Given the description of an element on the screen output the (x, y) to click on. 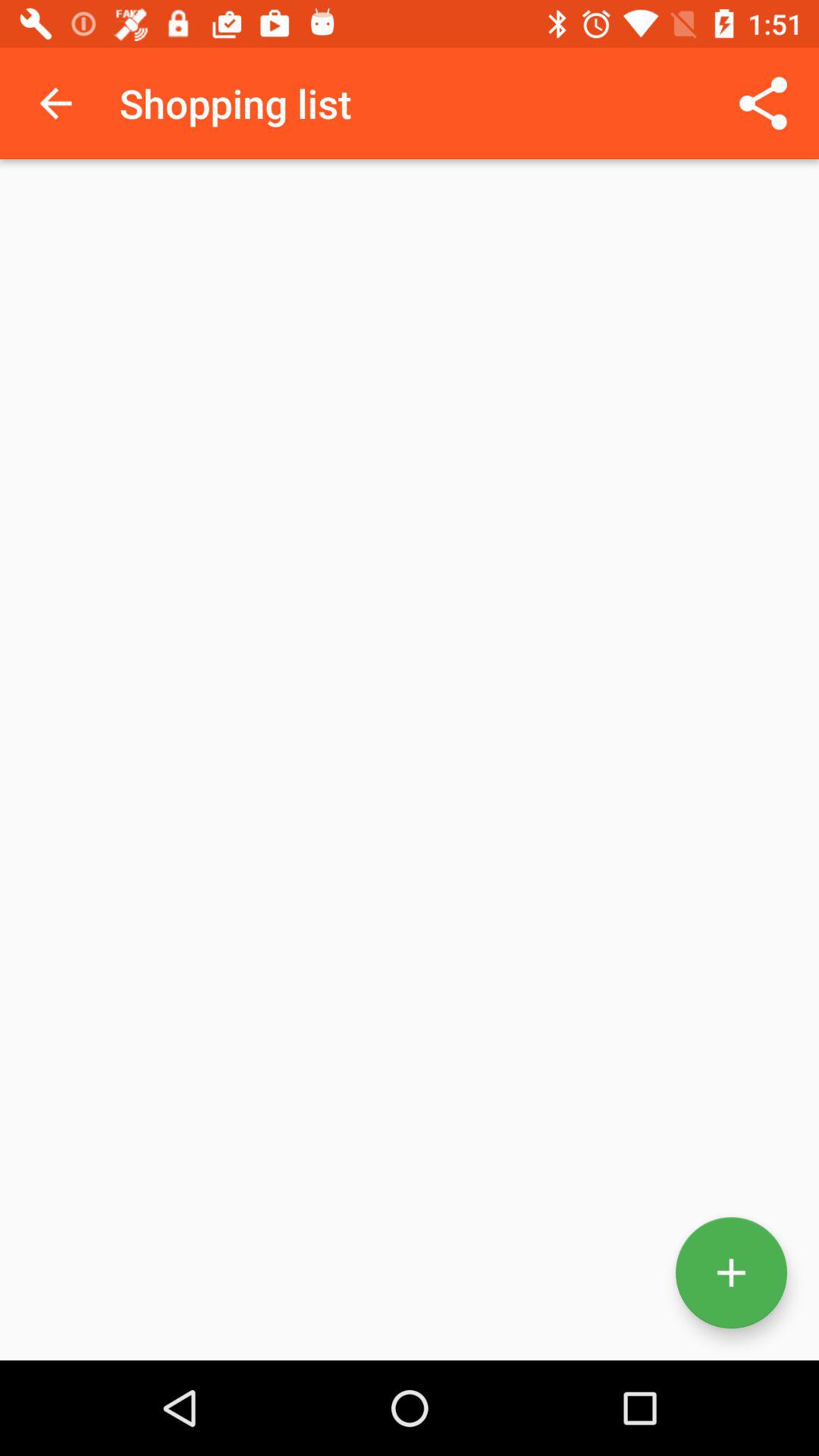
add more information (731, 1272)
